Given the description of an element on the screen output the (x, y) to click on. 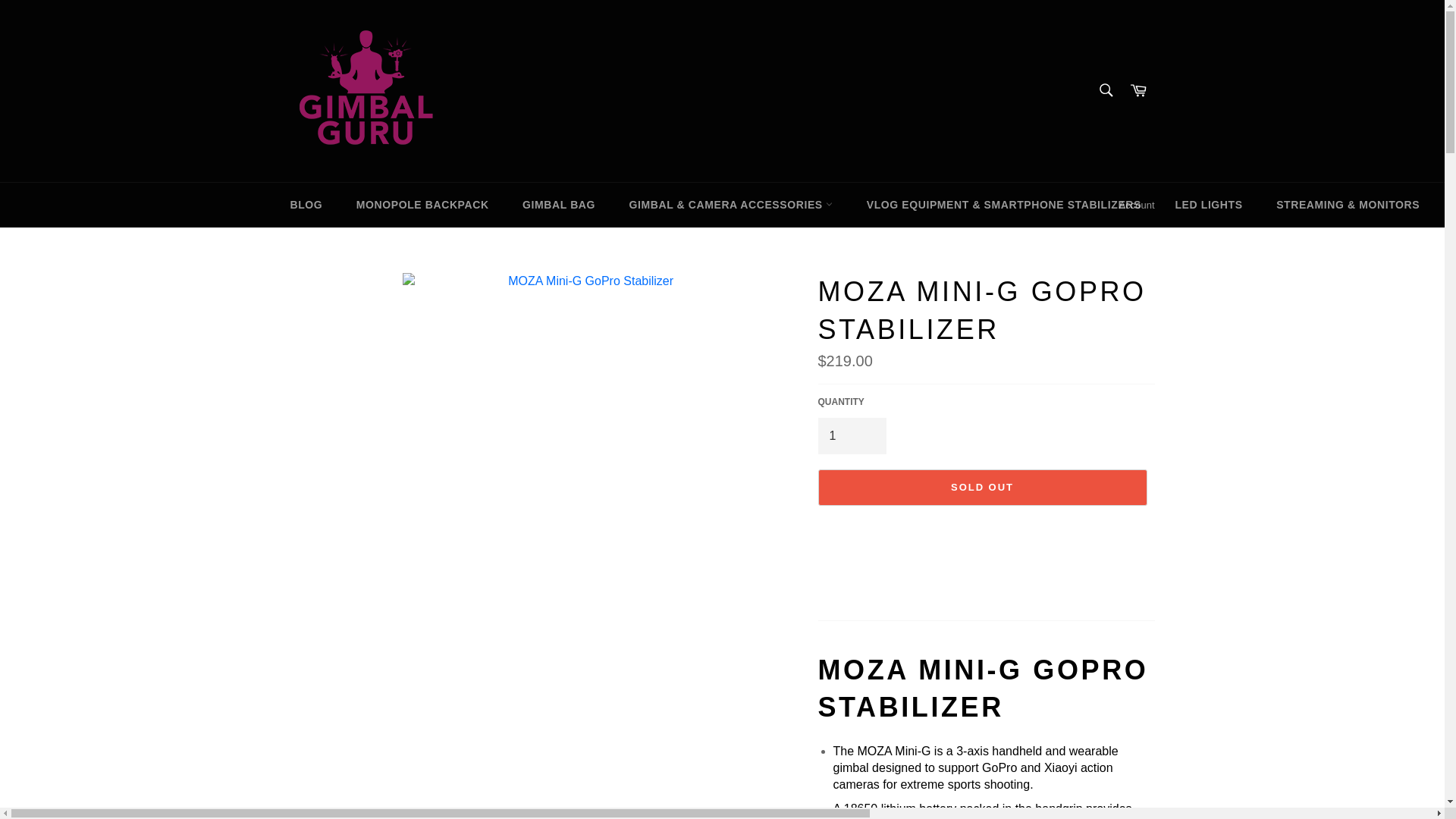
MONOPOLE BACKPACK (421, 204)
1 (850, 435)
BLOG (306, 204)
Search (1104, 90)
GIMBAL BAG (558, 204)
Cart (1138, 91)
